Given the description of an element on the screen output the (x, y) to click on. 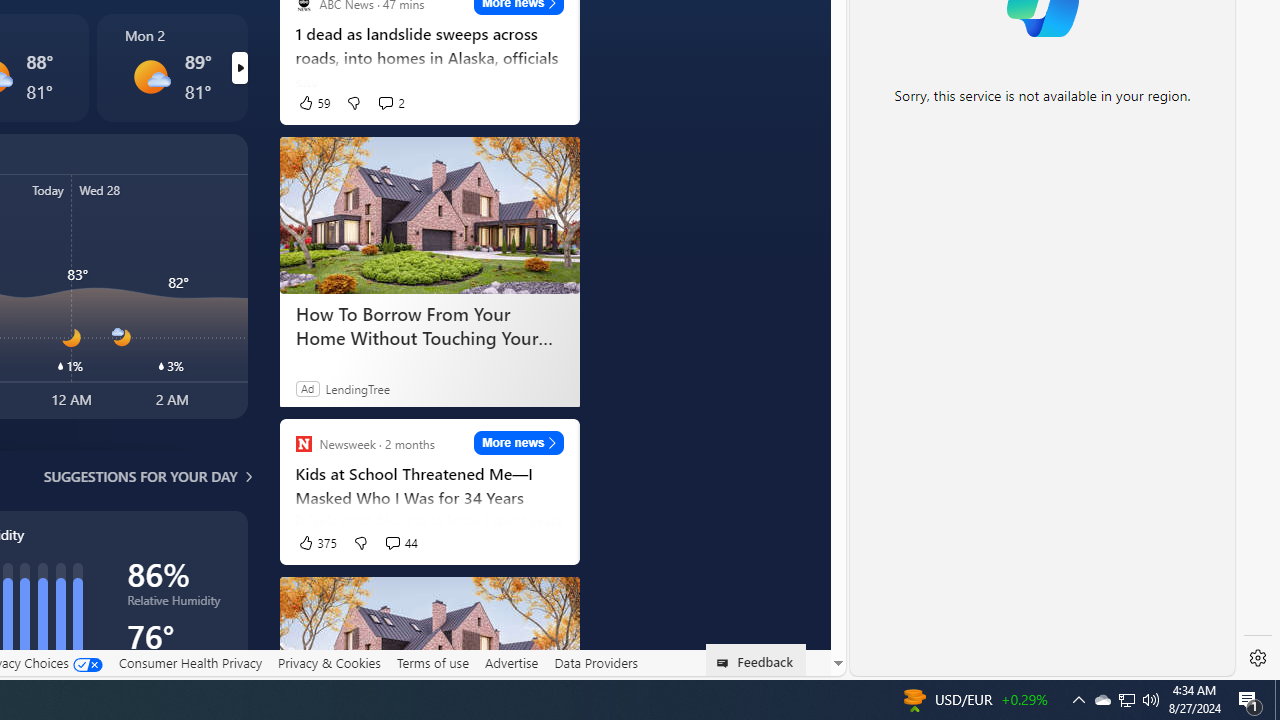
Dew point (176, 665)
More news (518, 443)
Data Providers (595, 662)
Privacy & Cookies (329, 663)
Suggestions for your day (140, 476)
LendingTree (357, 388)
Relative Humidity (176, 603)
Mostly sunny (150, 76)
Terms of use (431, 662)
Consumer Health Privacy (189, 663)
Class: feedback_link_icon-DS-EntryPoint1-1 (726, 663)
How To Borrow From Your Home Without Touching Your Mortgage (429, 214)
Feedback (756, 659)
